Given the description of an element on the screen output the (x, y) to click on. 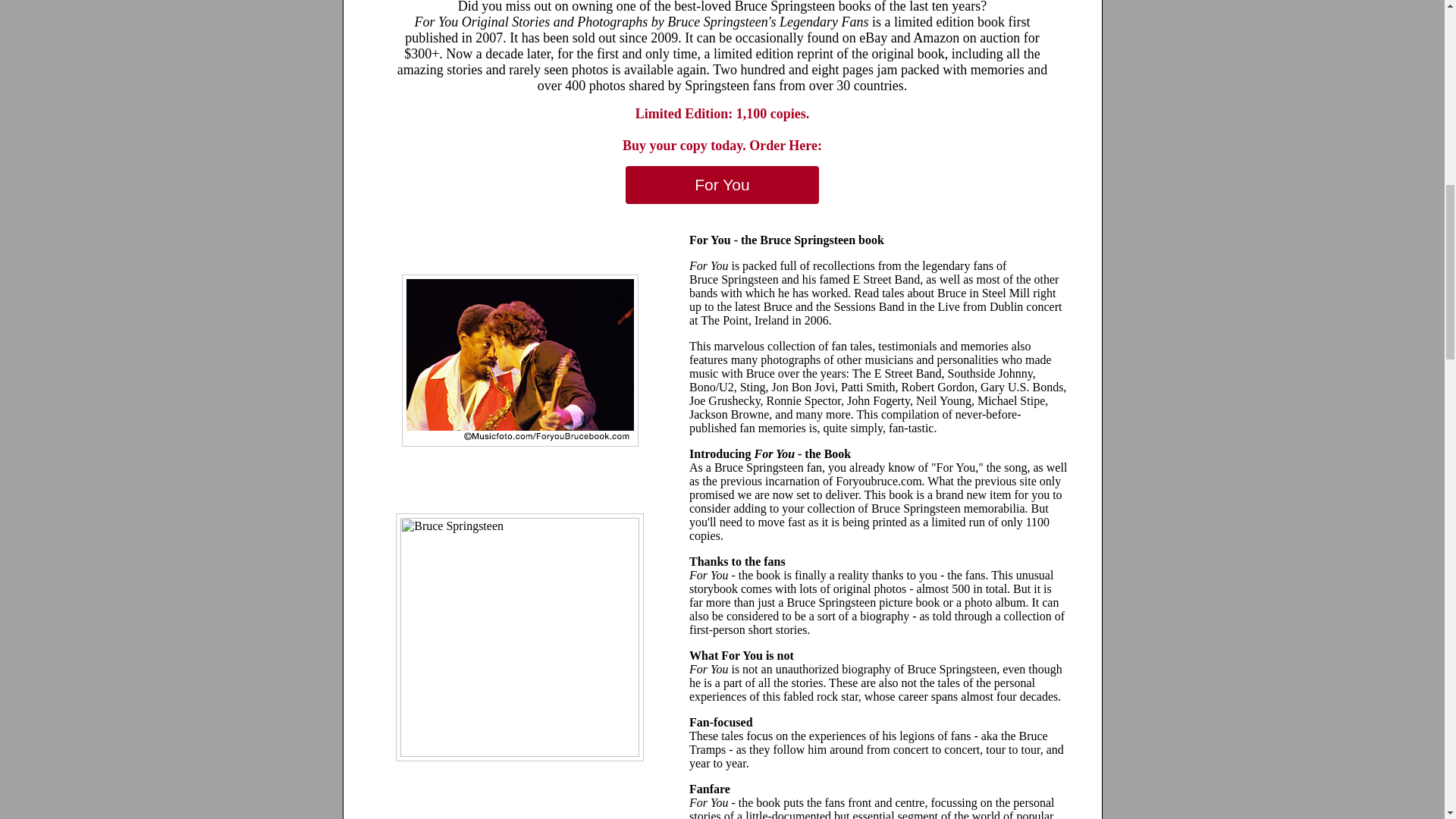
For You (722, 184)
Order your copy today (722, 184)
